Given the description of an element on the screen output the (x, y) to click on. 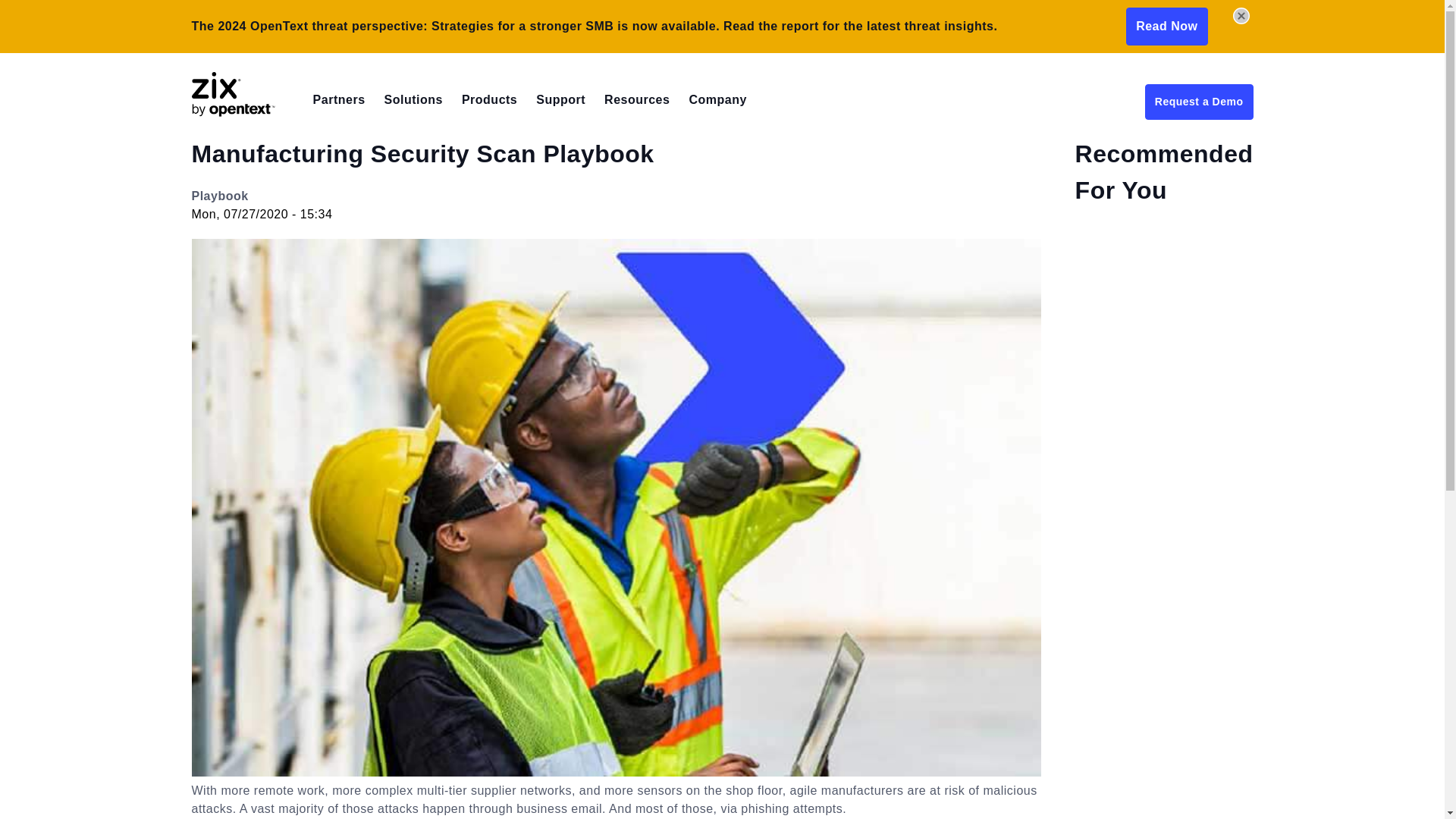
Read Now (1166, 26)
Go to Homepage (252, 112)
Close (1241, 15)
X (1241, 15)
